Given the description of an element on the screen output the (x, y) to click on. 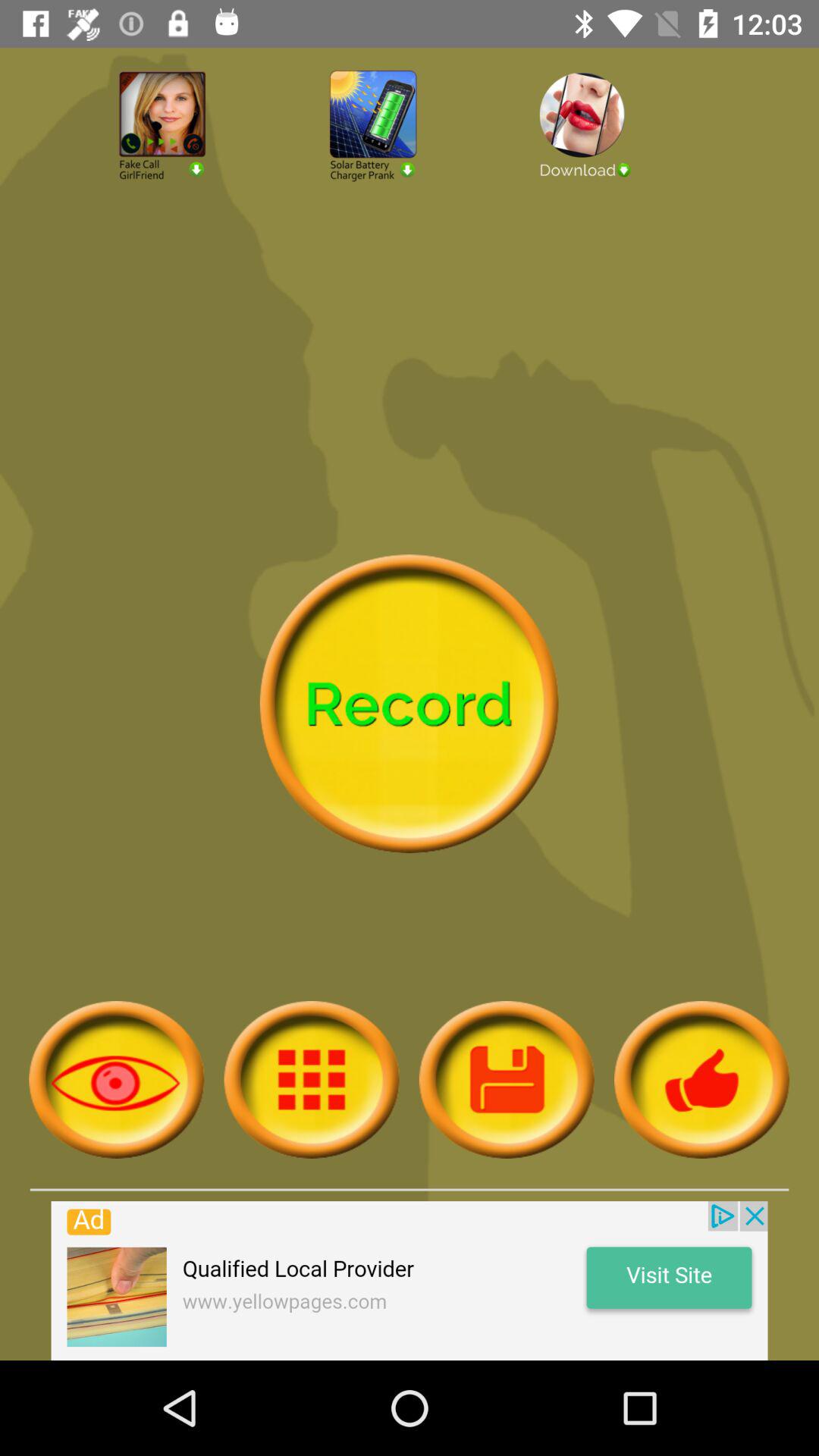
games page (409, 166)
